Given the description of an element on the screen output the (x, y) to click on. 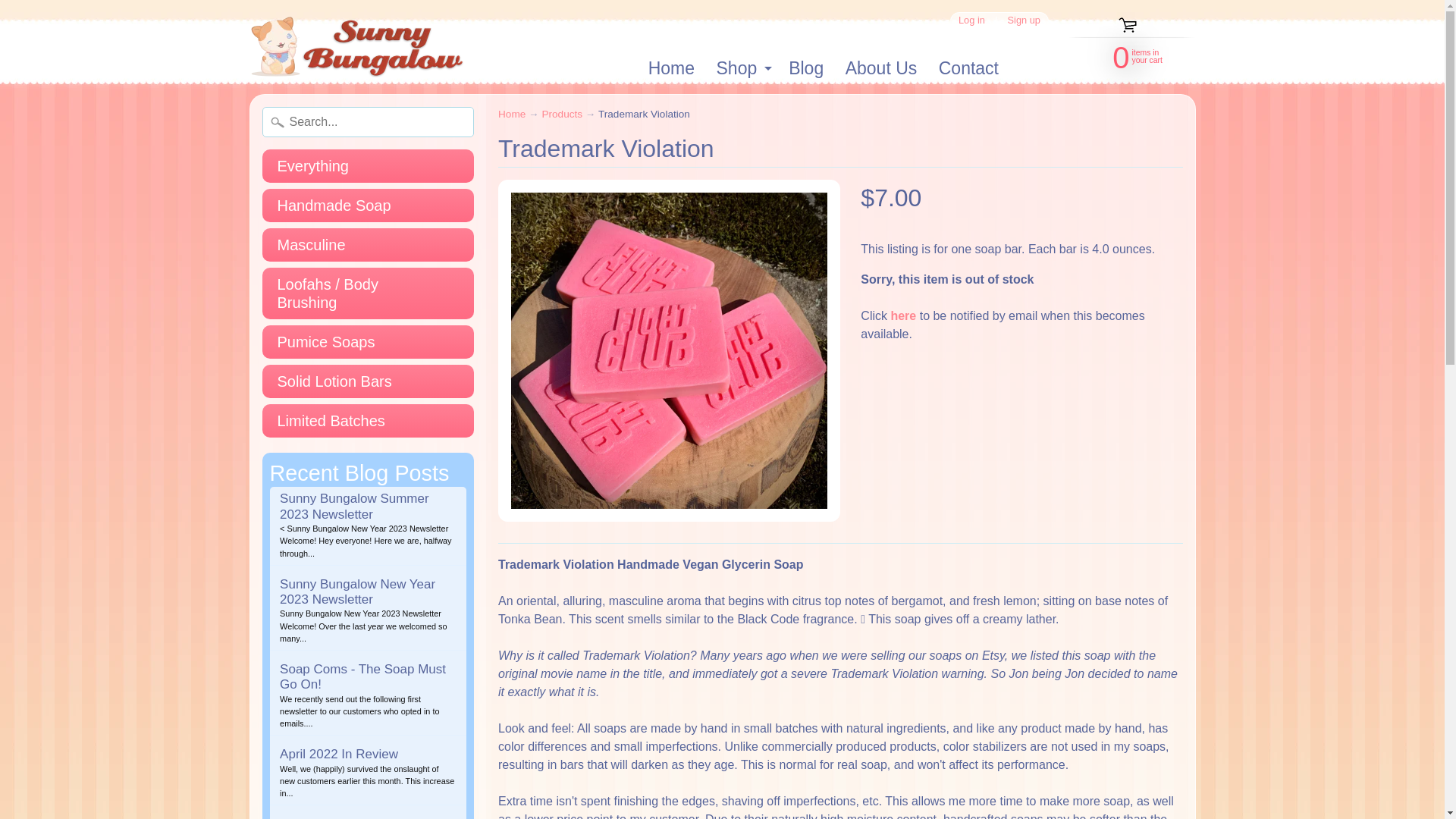
Log in (970, 20)
Solid Lotion Bars (368, 381)
Contact (968, 68)
Home (741, 68)
Pumice Soaps (671, 68)
Blog (1122, 56)
Handmade Soap (368, 341)
About Us (806, 68)
Sign up (368, 205)
Masculine (880, 68)
Back to the home page (1024, 20)
Sunny Bungalow (368, 244)
Limited Batches (511, 113)
